Given the description of an element on the screen output the (x, y) to click on. 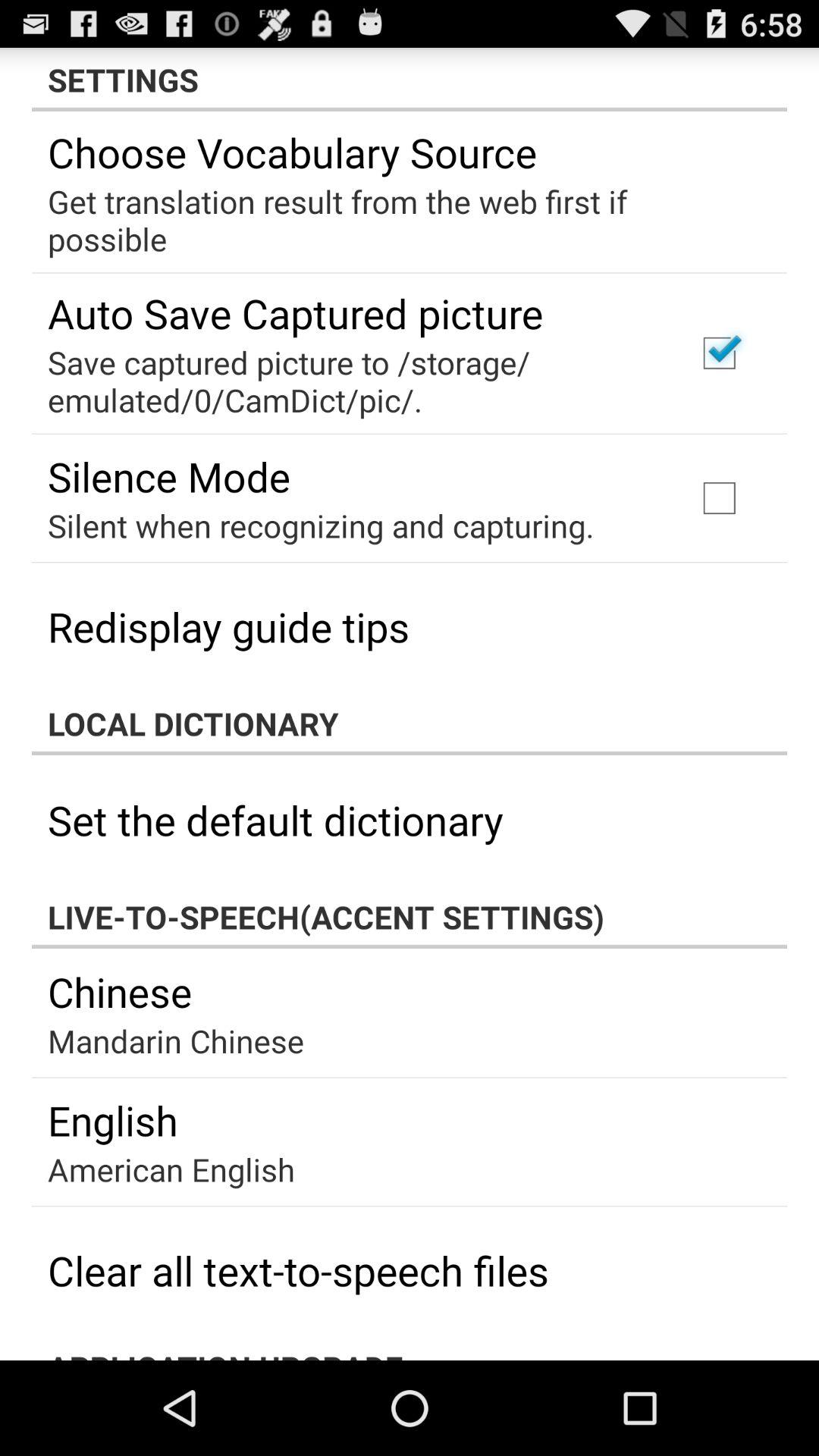
launch american english item (171, 1168)
